Given the description of an element on the screen output the (x, y) to click on. 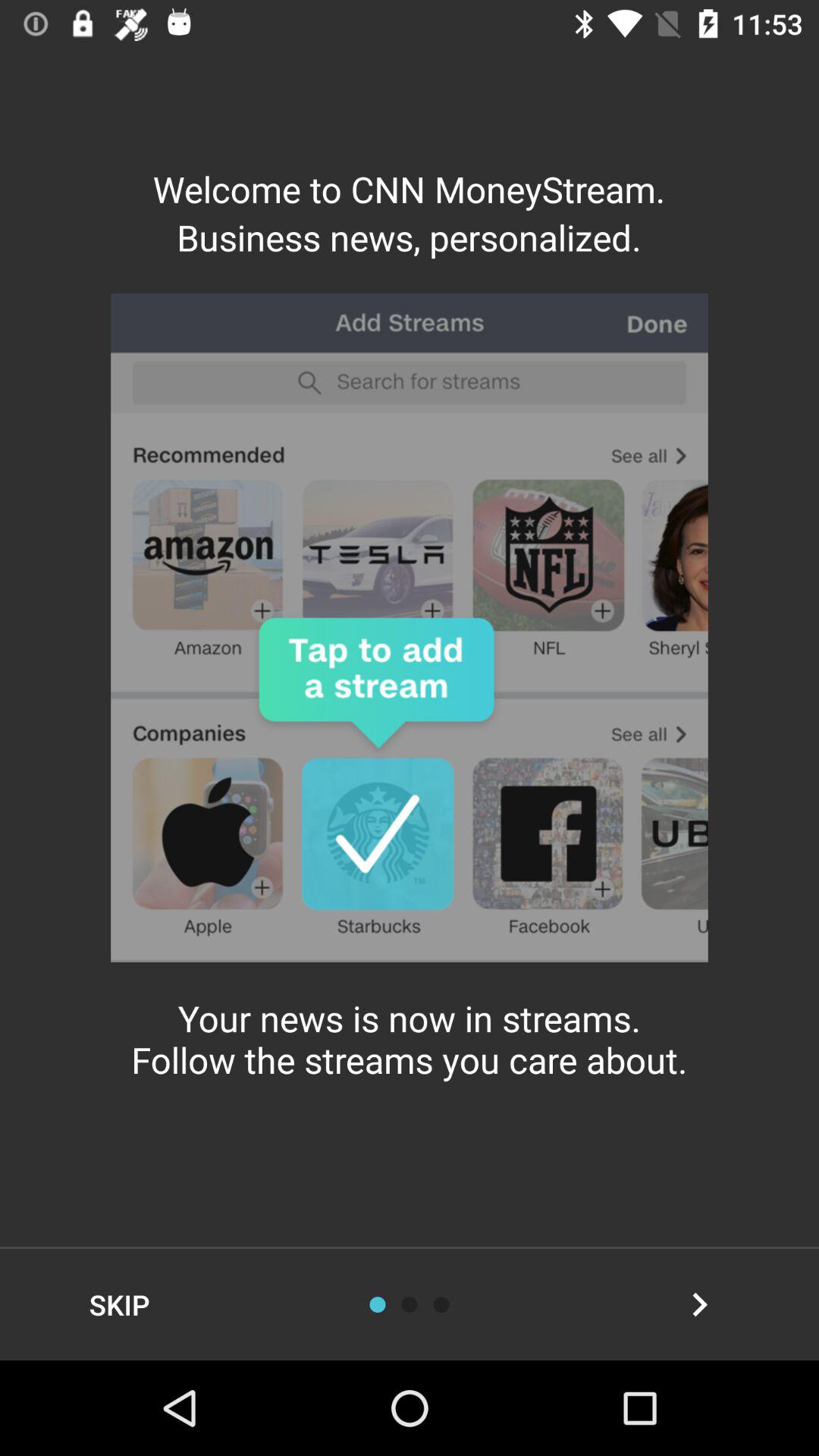
go forward (699, 1304)
